Given the description of an element on the screen output the (x, y) to click on. 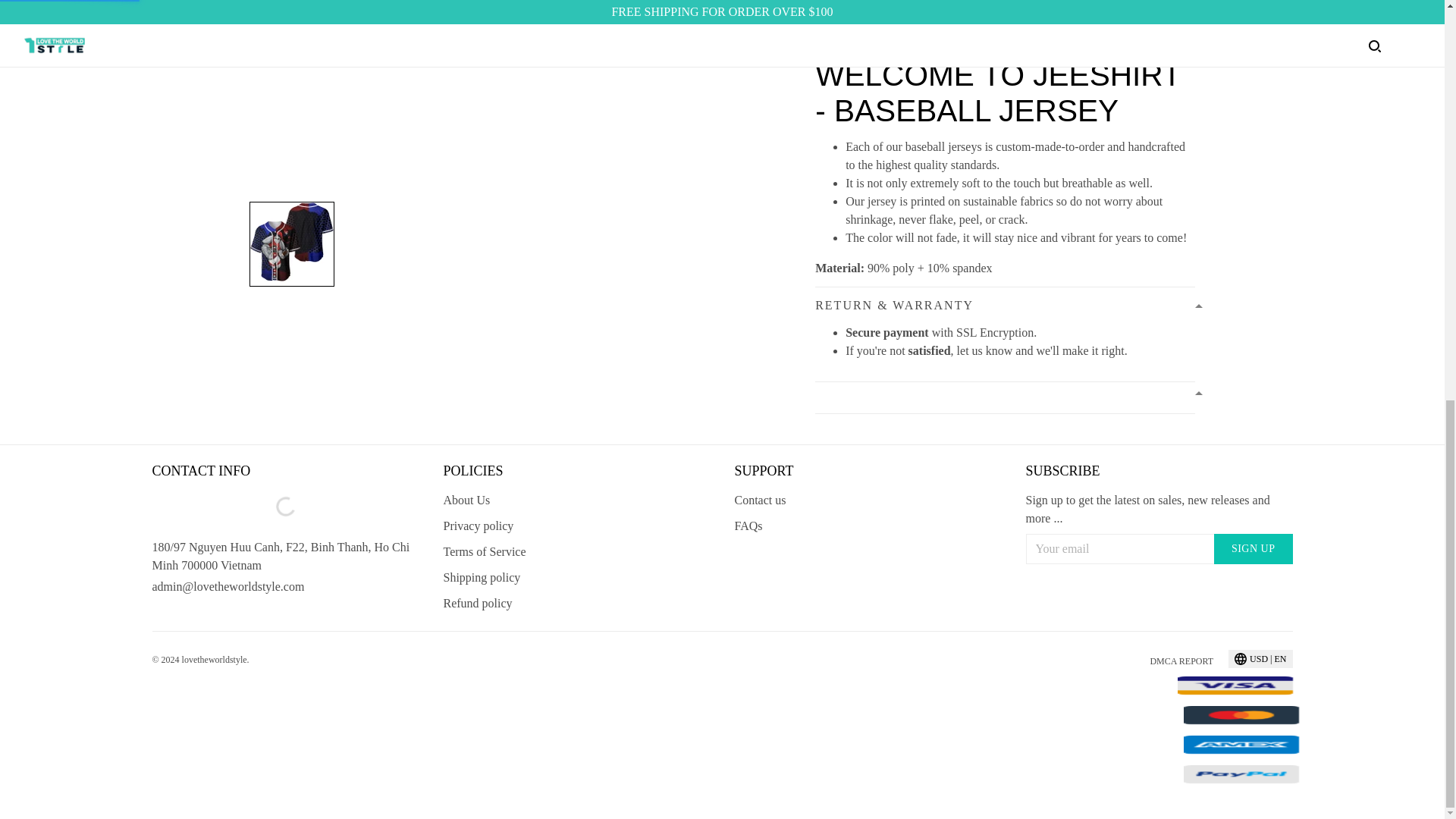
About Us (465, 499)
Pin on Pinterest (959, 10)
Share on Twitter (900, 10)
SIGN UP (1253, 548)
Pin it (959, 10)
Refund policy (477, 603)
Share (841, 10)
Tweet (900, 10)
Privacy policy (477, 525)
DMCA REPORT (1181, 661)
